Given the description of an element on the screen output the (x, y) to click on. 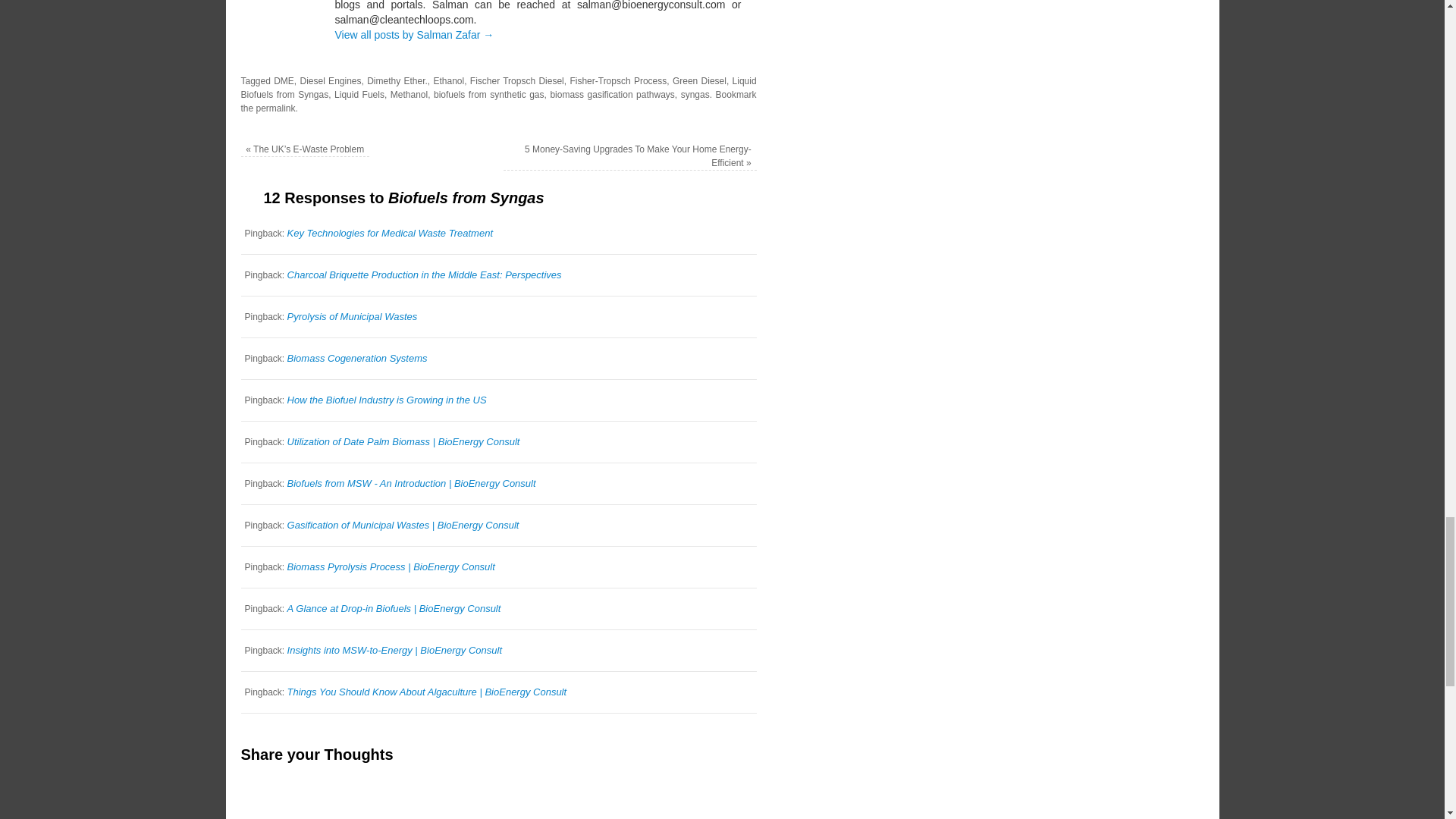
DME (283, 81)
